Given the description of an element on the screen output the (x, y) to click on. 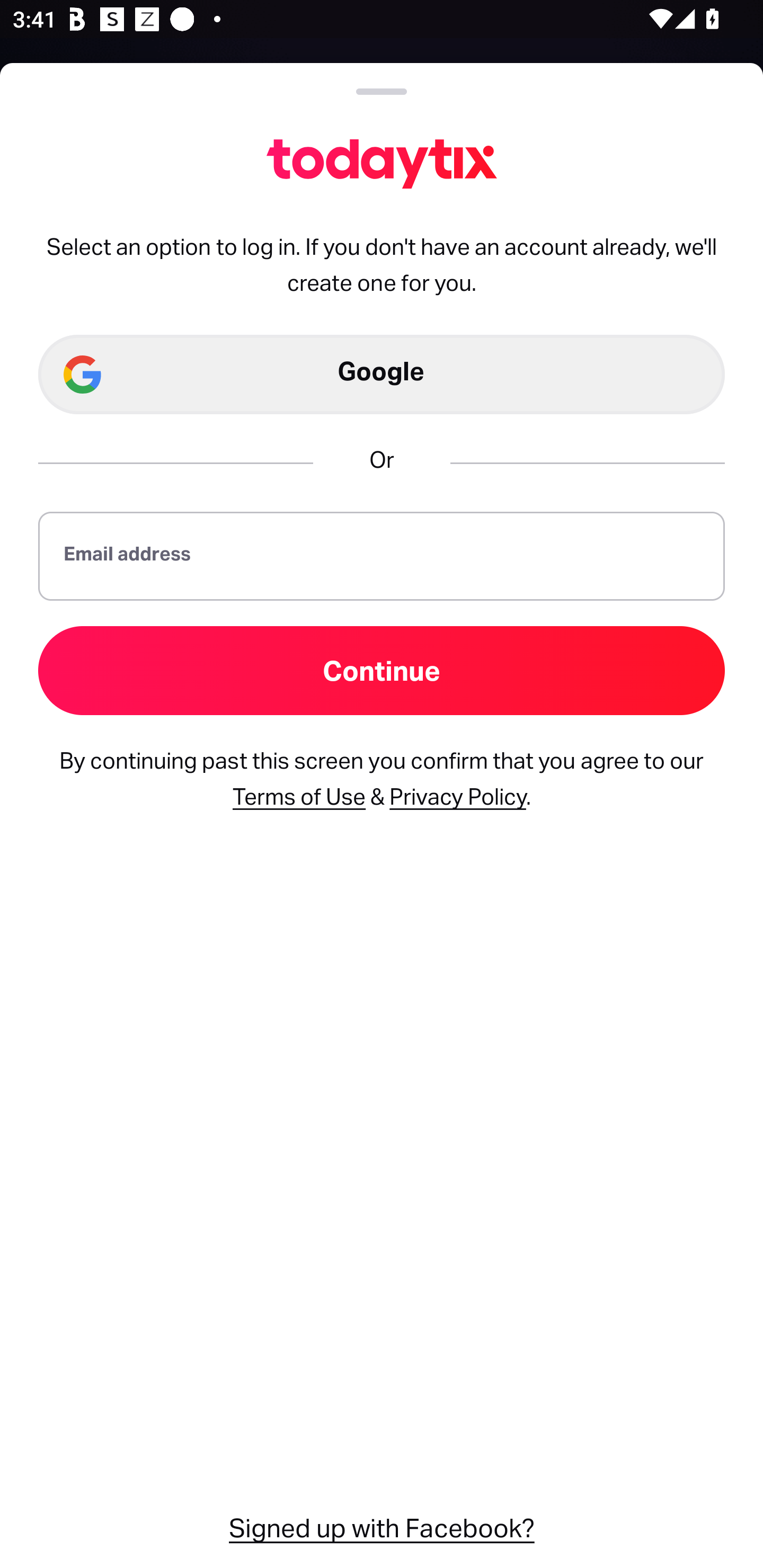
Google (381, 374)
Email address (381, 555)
Continue (381, 670)
Signed up with Facebook? (381, 1526)
